Given the description of an element on the screen output the (x, y) to click on. 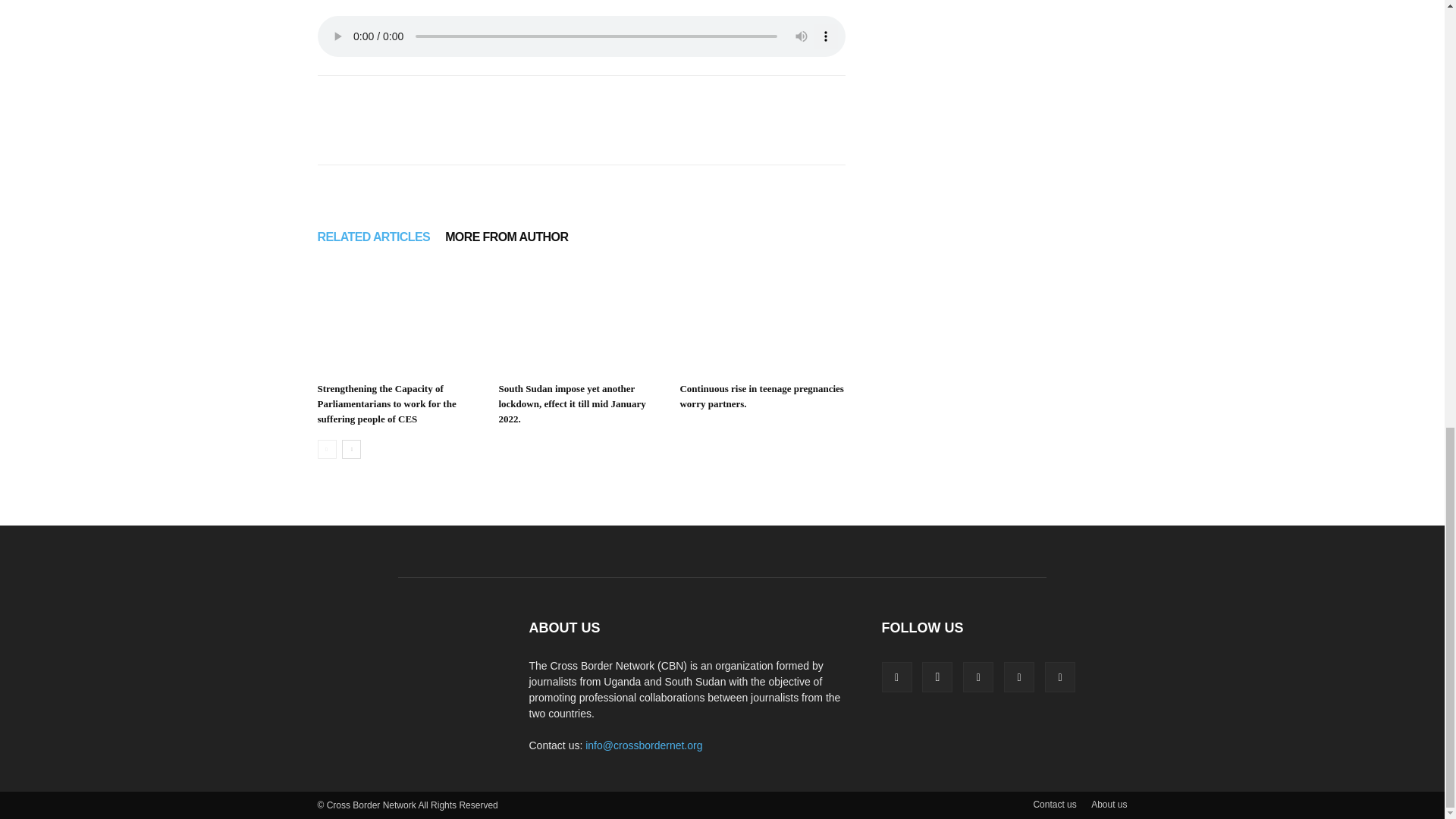
Continuous rise in teenage pregnancies worry partners. (761, 318)
